Given the description of an element on the screen output the (x, y) to click on. 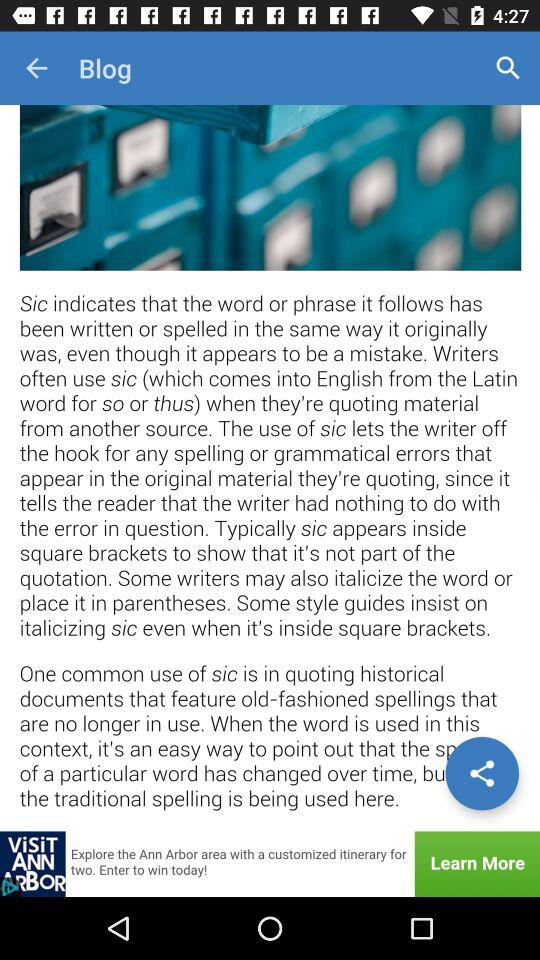
showing the advertisement (270, 864)
